Given the description of an element on the screen output the (x, y) to click on. 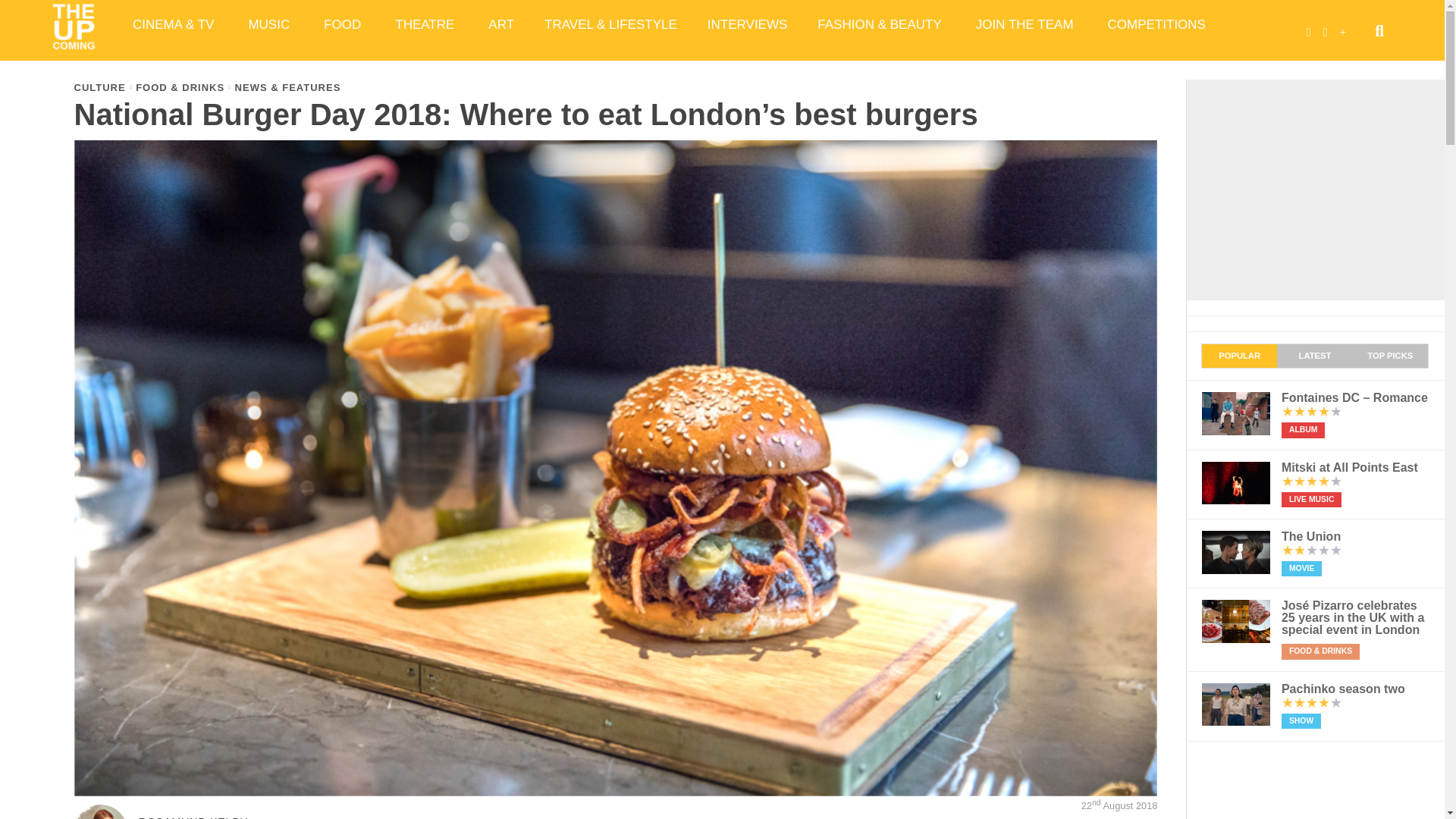
INTERVIEWS (747, 24)
MUSIC (270, 24)
THEATRE (426, 24)
JOIN THE TEAM (1026, 24)
ART (501, 24)
FOOD (344, 24)
